Given the description of an element on the screen output the (x, y) to click on. 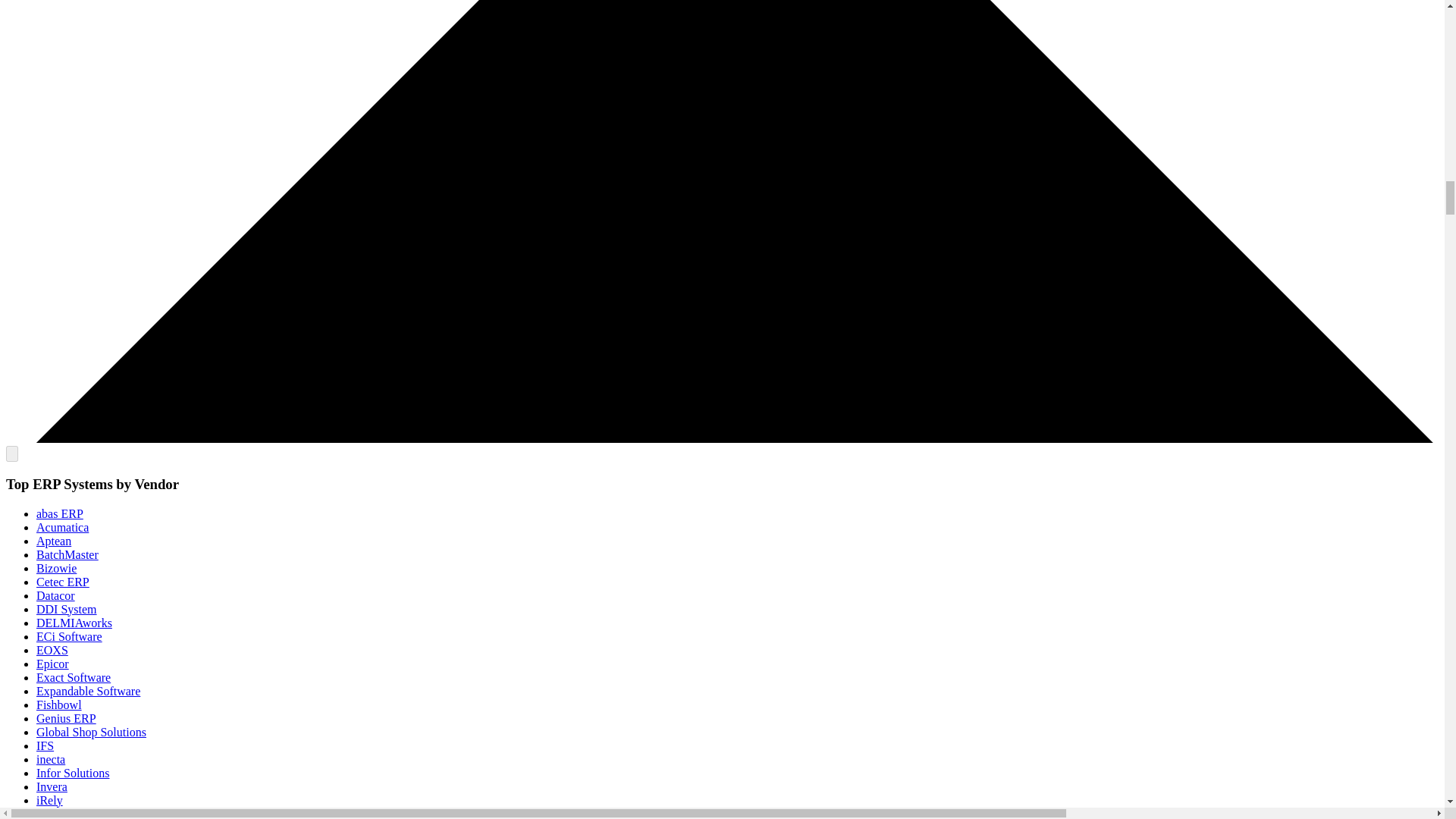
Aptean (53, 540)
Cetec ERP (62, 581)
iRely (49, 799)
DDI System (66, 608)
abas ERP (59, 513)
IFS (44, 745)
EOXS (52, 649)
Expandable Software (87, 690)
Acumatica (62, 526)
ECi Software (68, 635)
Epicor (52, 663)
Global Shop Solutions (91, 731)
Fishbowl (58, 704)
Jobscope (58, 813)
